Given the description of an element on the screen output the (x, y) to click on. 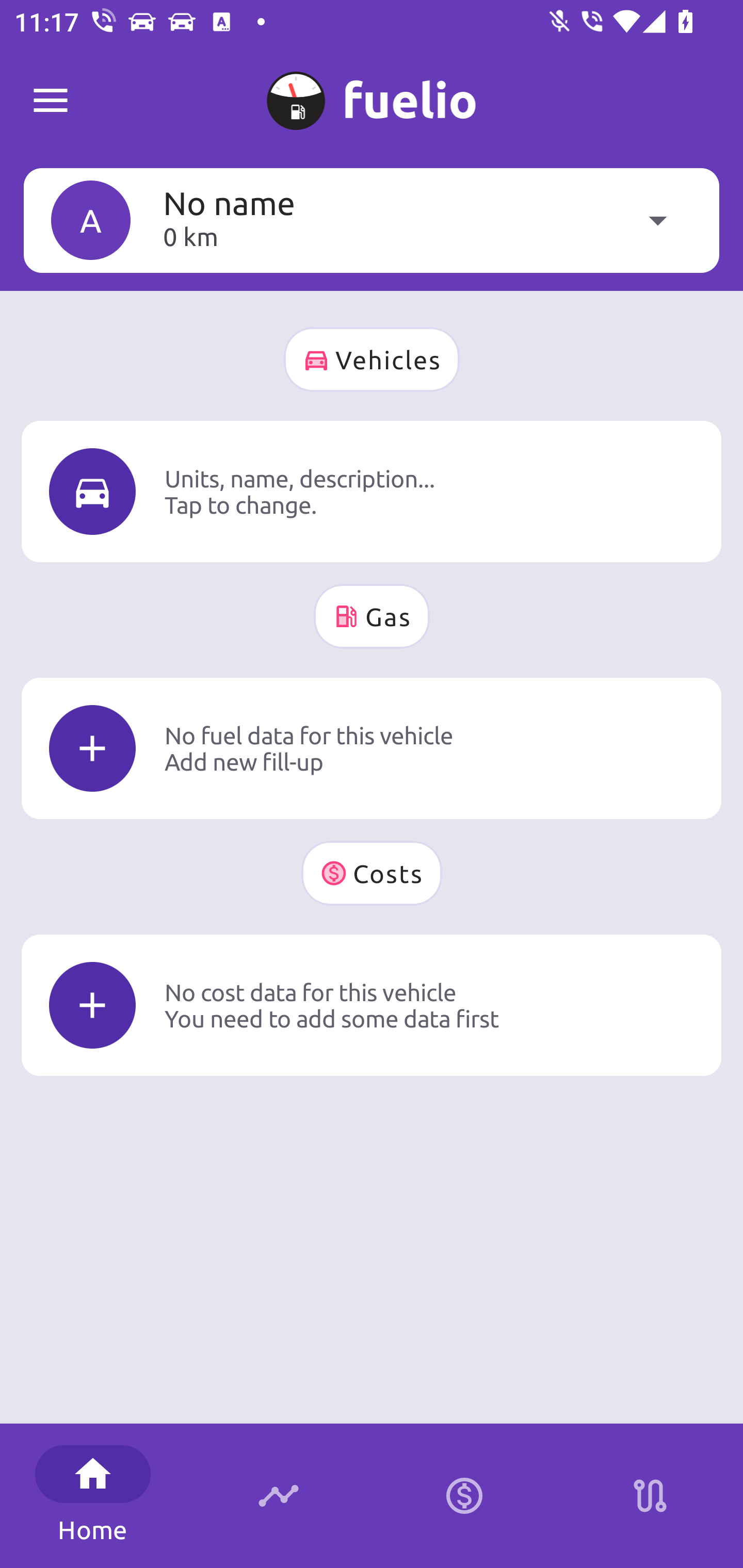
Fuelio (50, 101)
A No name 0 km (371, 219)
Vehicles (371, 359)
Icon Units, name, description...
Tap to change. (371, 491)
Icon (92, 491)
Gas (371, 616)
Icon No fuel data for this vehicle
Add new fill-up (371, 747)
Icon (92, 748)
Costs (371, 873)
Icon (92, 1004)
Timeline (278, 1495)
Calculator (464, 1495)
Stations on route (650, 1495)
